Given the description of an element on the screen output the (x, y) to click on. 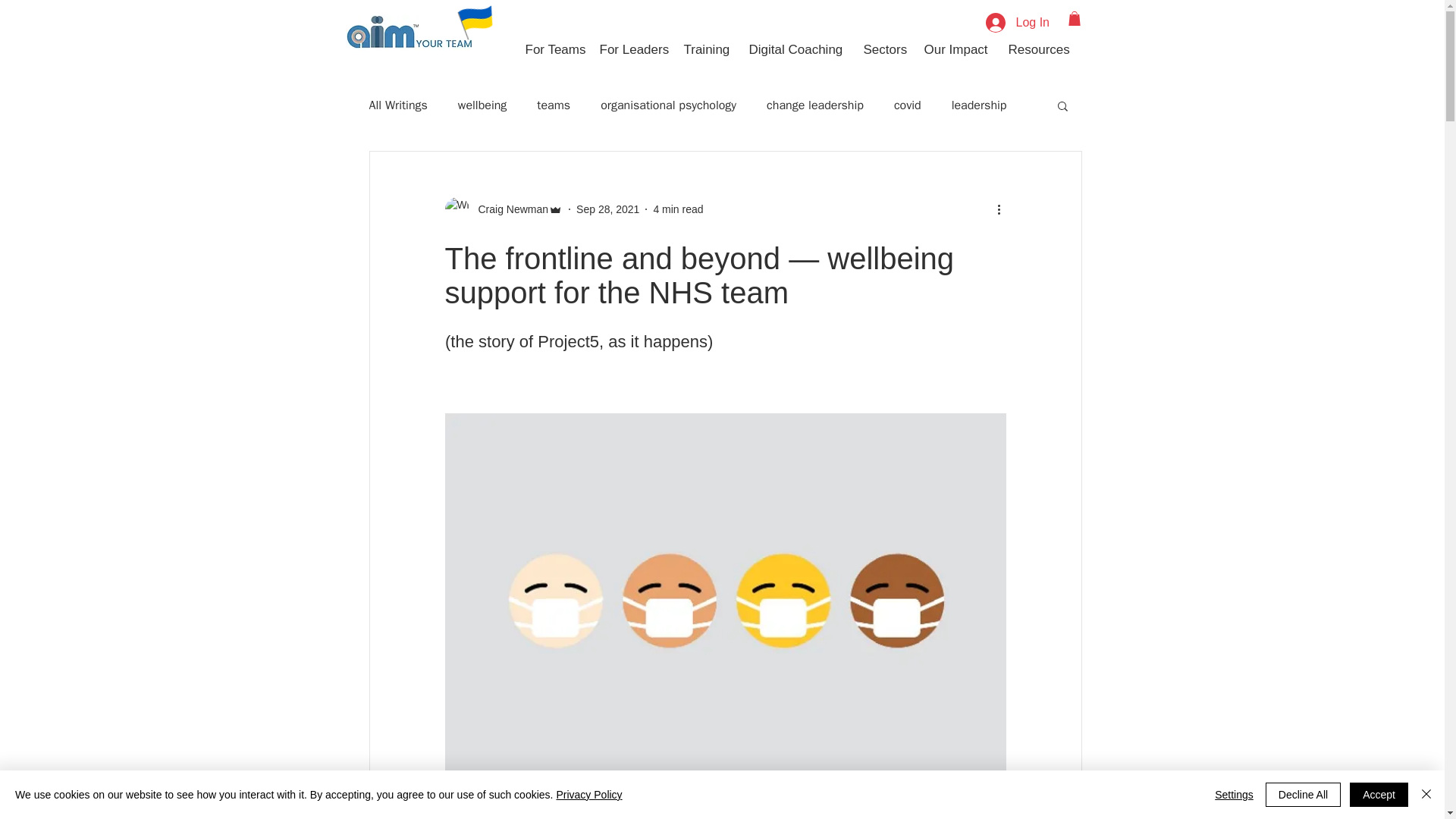
For Leaders (630, 49)
Our Impact (954, 49)
Training (703, 49)
change leadership (815, 105)
covid (907, 105)
Log In (1016, 22)
All Writings (397, 105)
Craig Newman (503, 209)
organisational psychology (667, 105)
Craig Newman (508, 209)
For Teams (550, 49)
teams (553, 105)
Sep 28, 2021 (607, 209)
4 min read (677, 209)
wellbeing (482, 105)
